Given the description of an element on the screen output the (x, y) to click on. 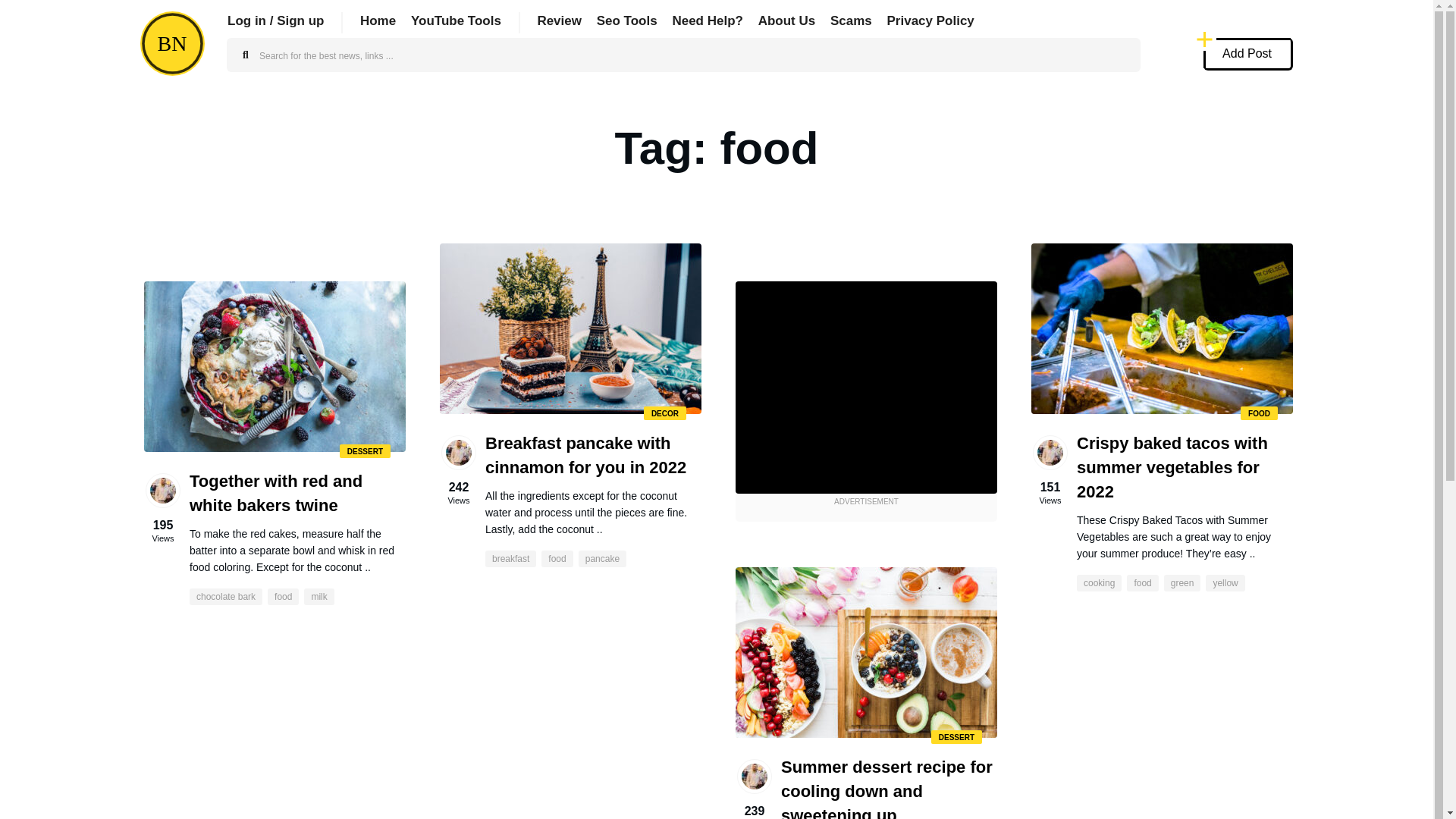
BN (172, 43)
YouTube Tools (455, 20)
Review (558, 20)
Seo Tools (627, 20)
Home (377, 20)
Advertisement (866, 387)
